Given the description of an element on the screen output the (x, y) to click on. 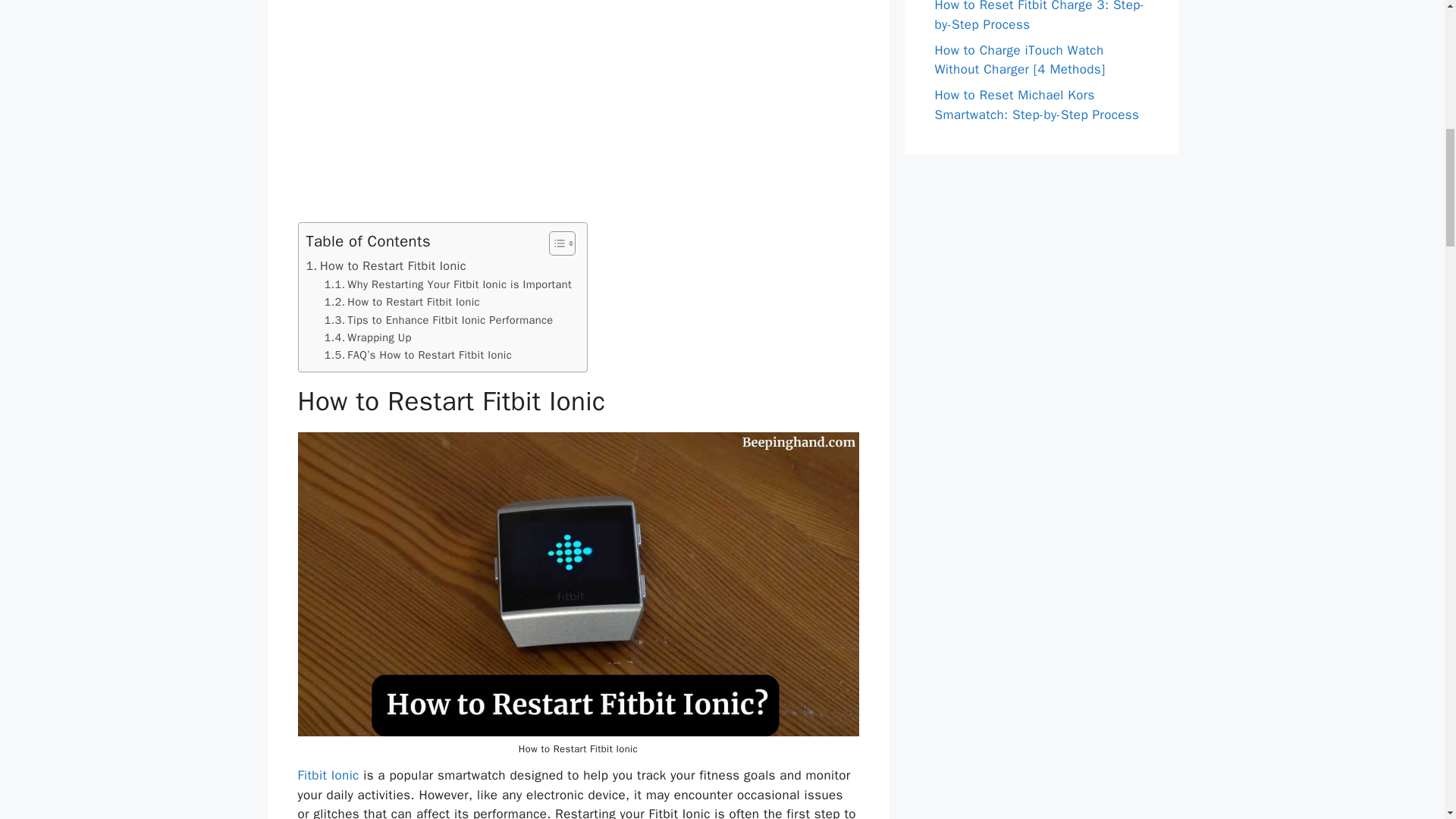
How to Restart Fitbit Ionic (385, 266)
Why Restarting Your Fitbit Ionic is Important (448, 284)
How to Restart Fitbit Ionic (402, 302)
Wrapping Up (368, 337)
Fitbit Ionic (327, 774)
Why Restarting Your Fitbit Ionic is Important (448, 284)
How to Restart Fitbit Ionic (385, 266)
Advertisement (578, 110)
Tips to Enhance Fitbit Ionic Performance (438, 320)
How to Reset Fitbit Charge 3: Step-by-Step Process (1039, 16)
